Given the description of an element on the screen output the (x, y) to click on. 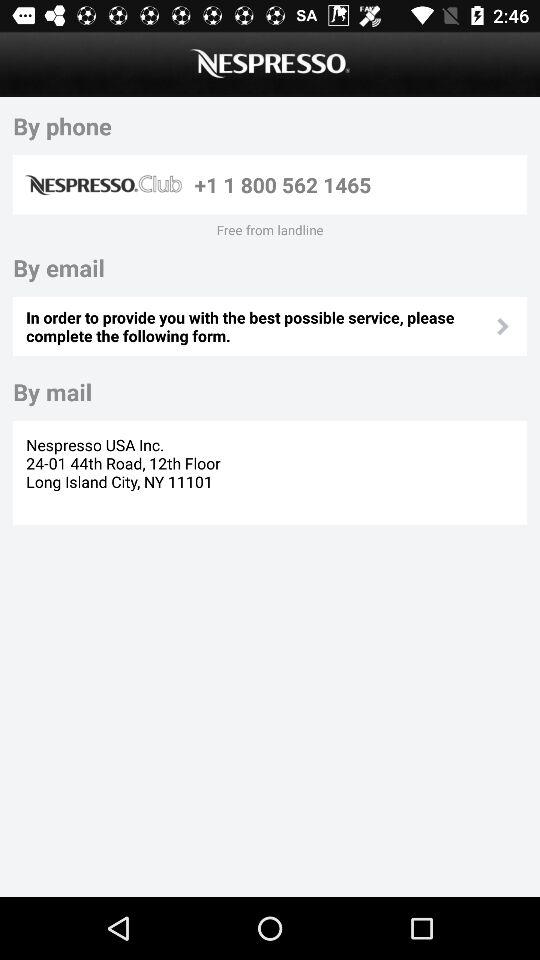
flip until the 1 1 800 (357, 184)
